Given the description of an element on the screen output the (x, y) to click on. 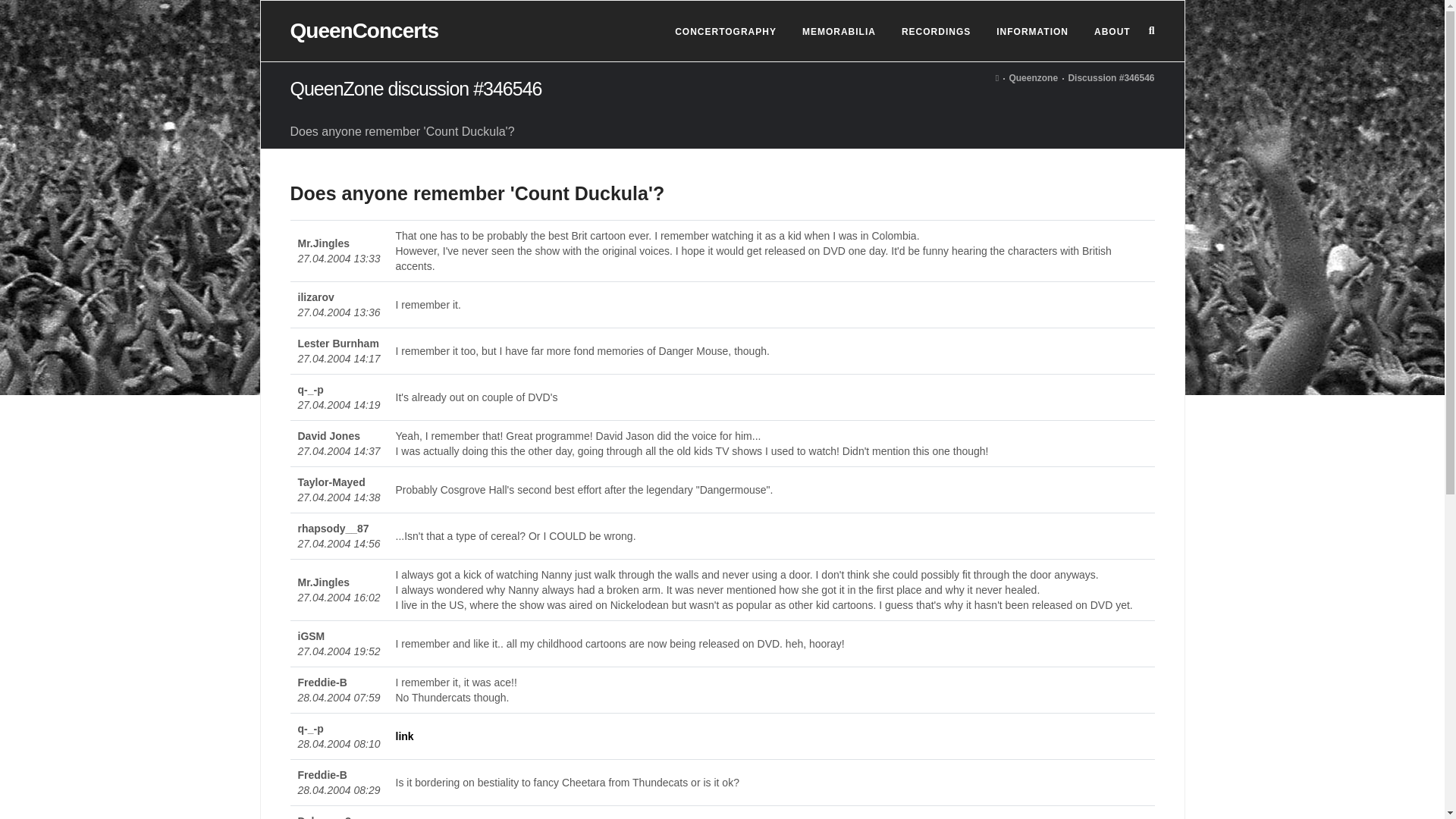
ABOUT (1112, 31)
Mr.Jingles (323, 243)
RECORDINGS (936, 31)
MEMORABILIA (839, 31)
Queenzone (1033, 77)
INFORMATION (1031, 31)
CONCERTOGRAPHY (725, 31)
QueenConcerts (363, 30)
